Given the description of an element on the screen output the (x, y) to click on. 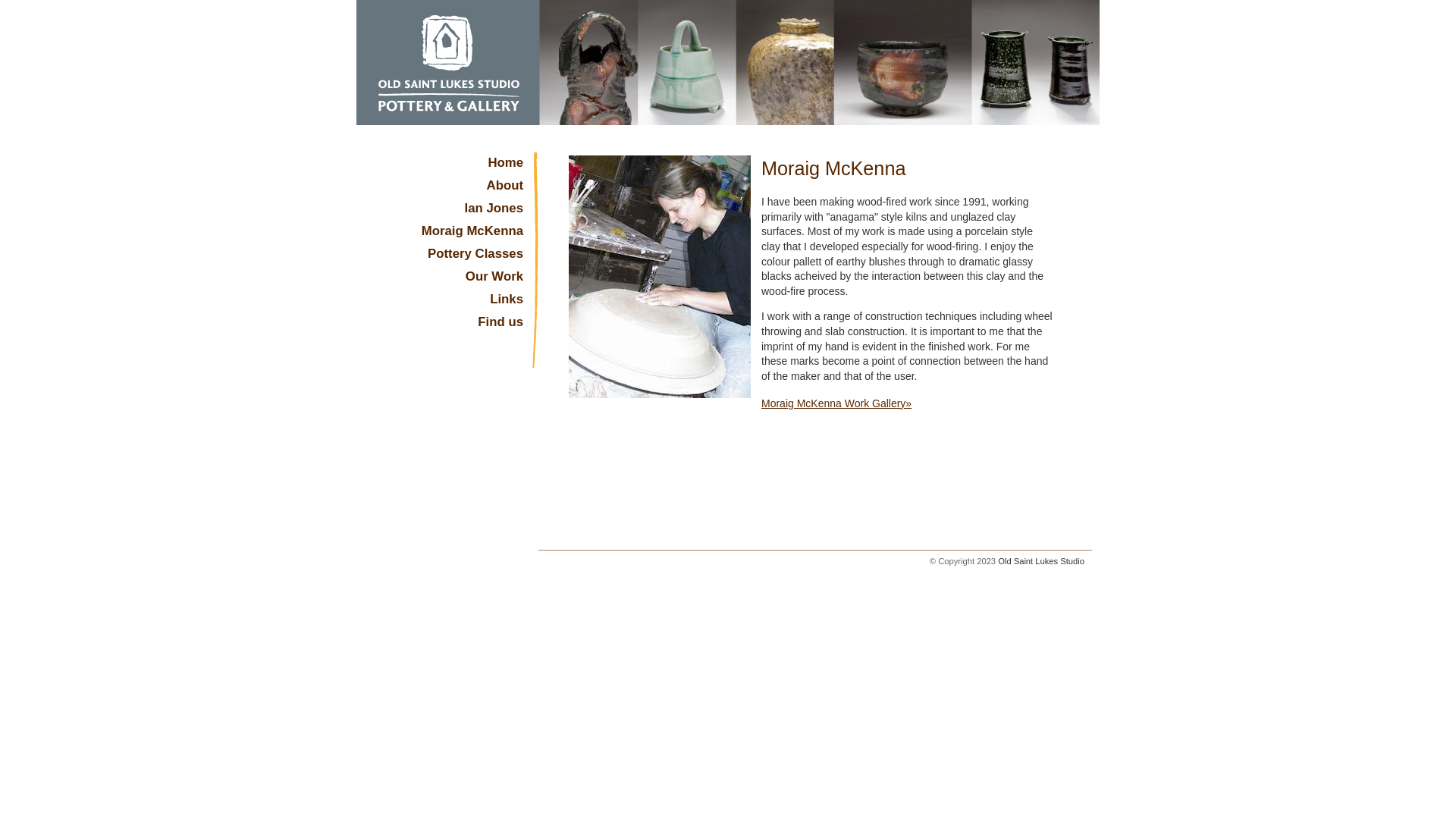
Our Work Element type: text (447, 280)
About Element type: text (447, 189)
Old Saint Lukes Studio Element type: text (1040, 560)
Links Element type: text (447, 302)
Pottery Classes Element type: text (447, 257)
Ian Jones Element type: text (447, 211)
Find us Element type: text (447, 325)
Home Element type: text (447, 166)
Moraig McKenna Element type: text (447, 234)
